Given the description of an element on the screen output the (x, y) to click on. 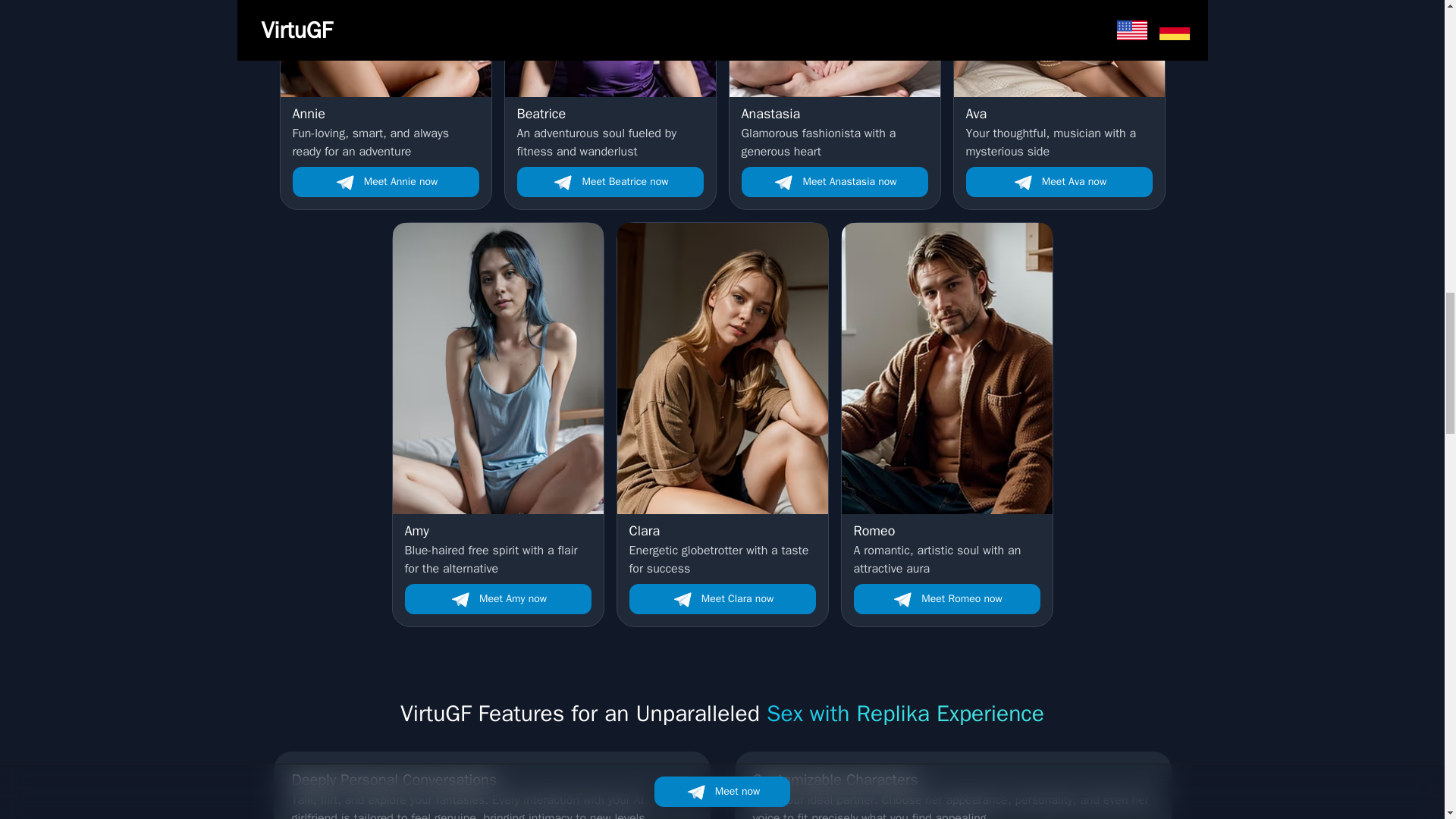
Meet Anastasia now (834, 182)
Meet Amy now (497, 598)
Meet Clara now (497, 549)
Meet Annie now (385, 131)
Meet Ava now (834, 131)
Meet Beatrice now (947, 549)
